Given the description of an element on the screen output the (x, y) to click on. 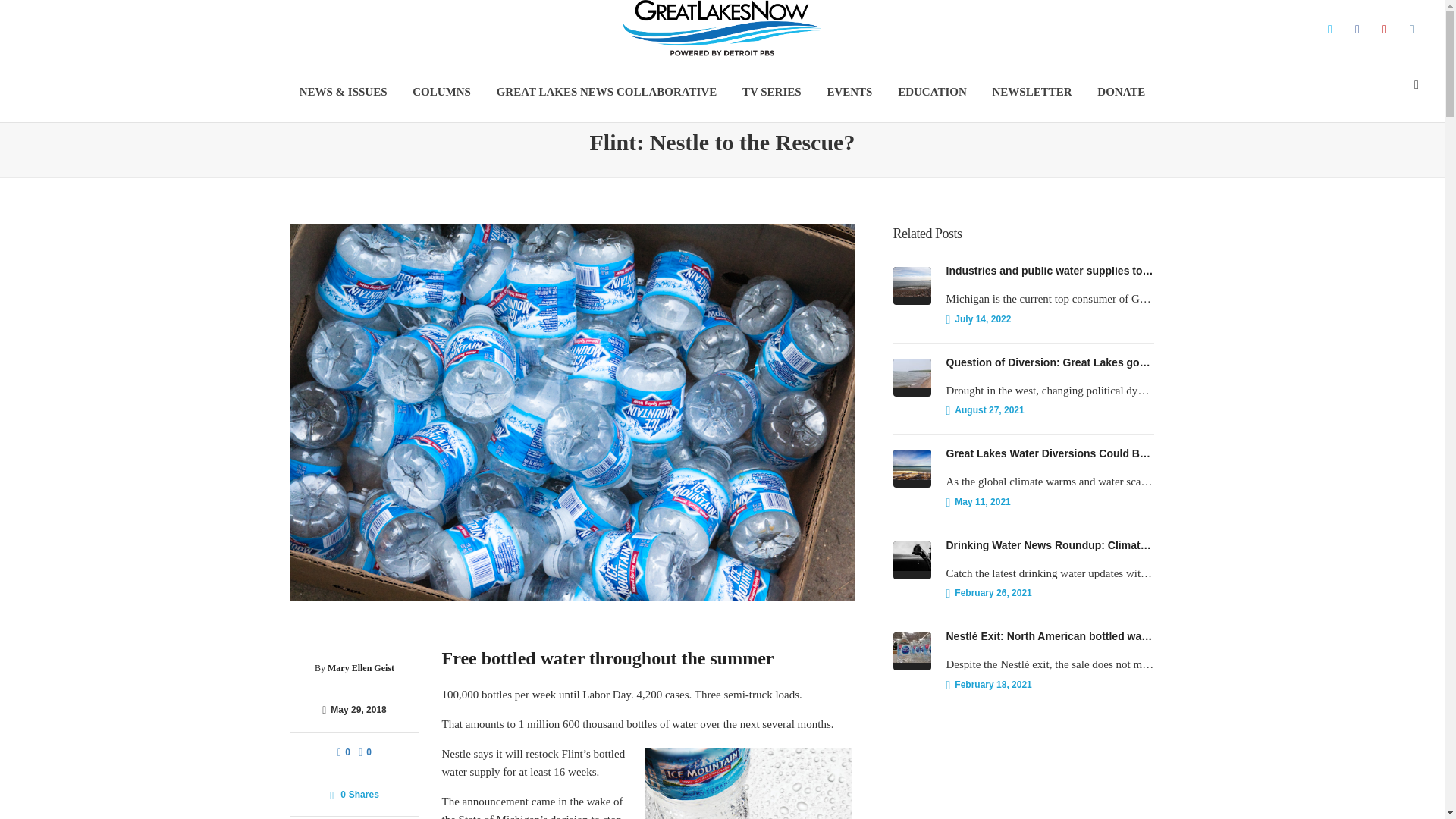
Great Lakes Water Diversions Could Be More Numerous (1050, 453)
0 (343, 752)
0 Shares (354, 793)
